Given the description of an element on the screen output the (x, y) to click on. 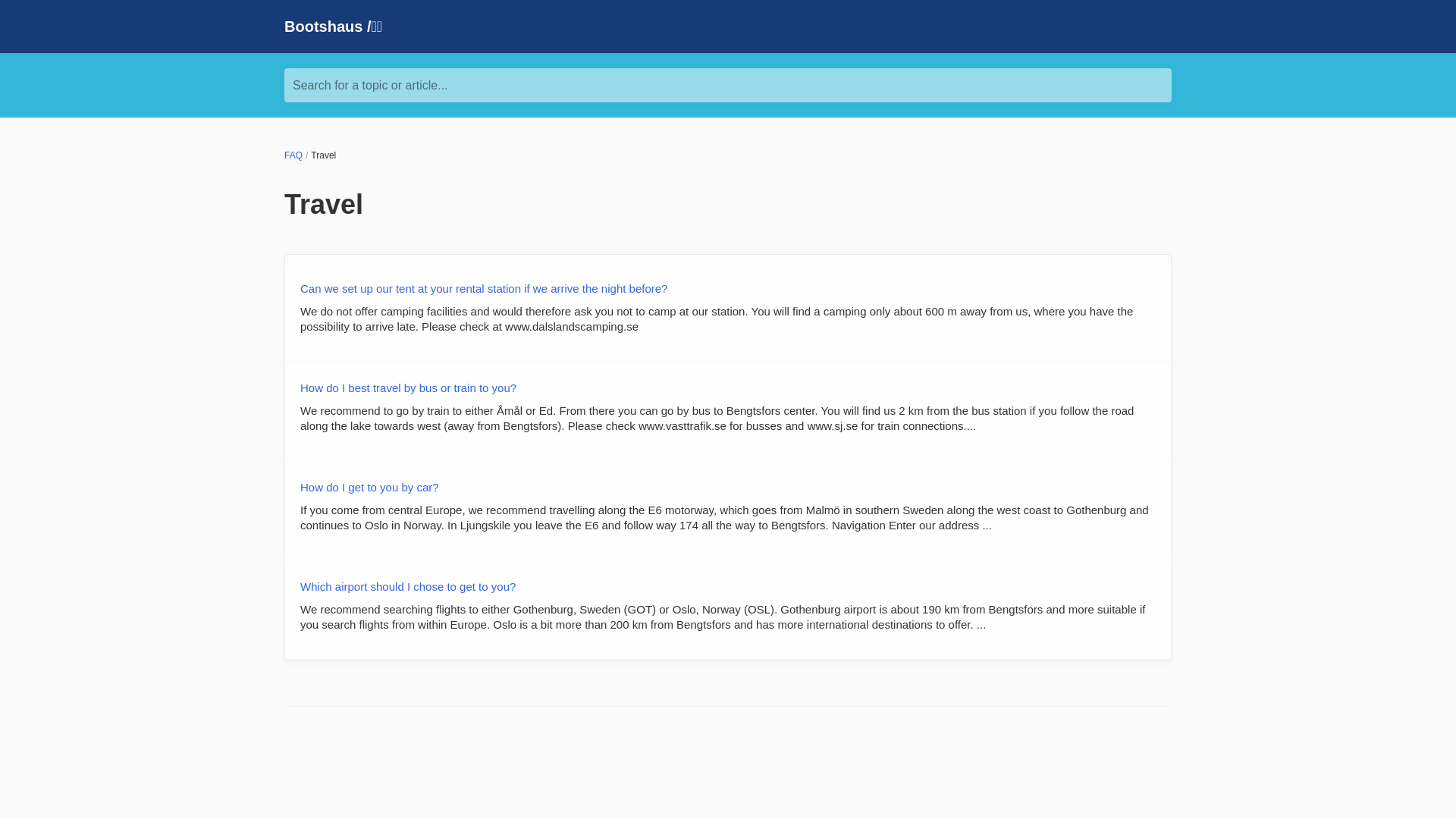
FAQ (292, 154)
How do I best travel by bus or train to you? (407, 387)
How do I get to you by car? (369, 486)
Which airport should I chose to get to you? (407, 585)
